Given the description of an element on the screen output the (x, y) to click on. 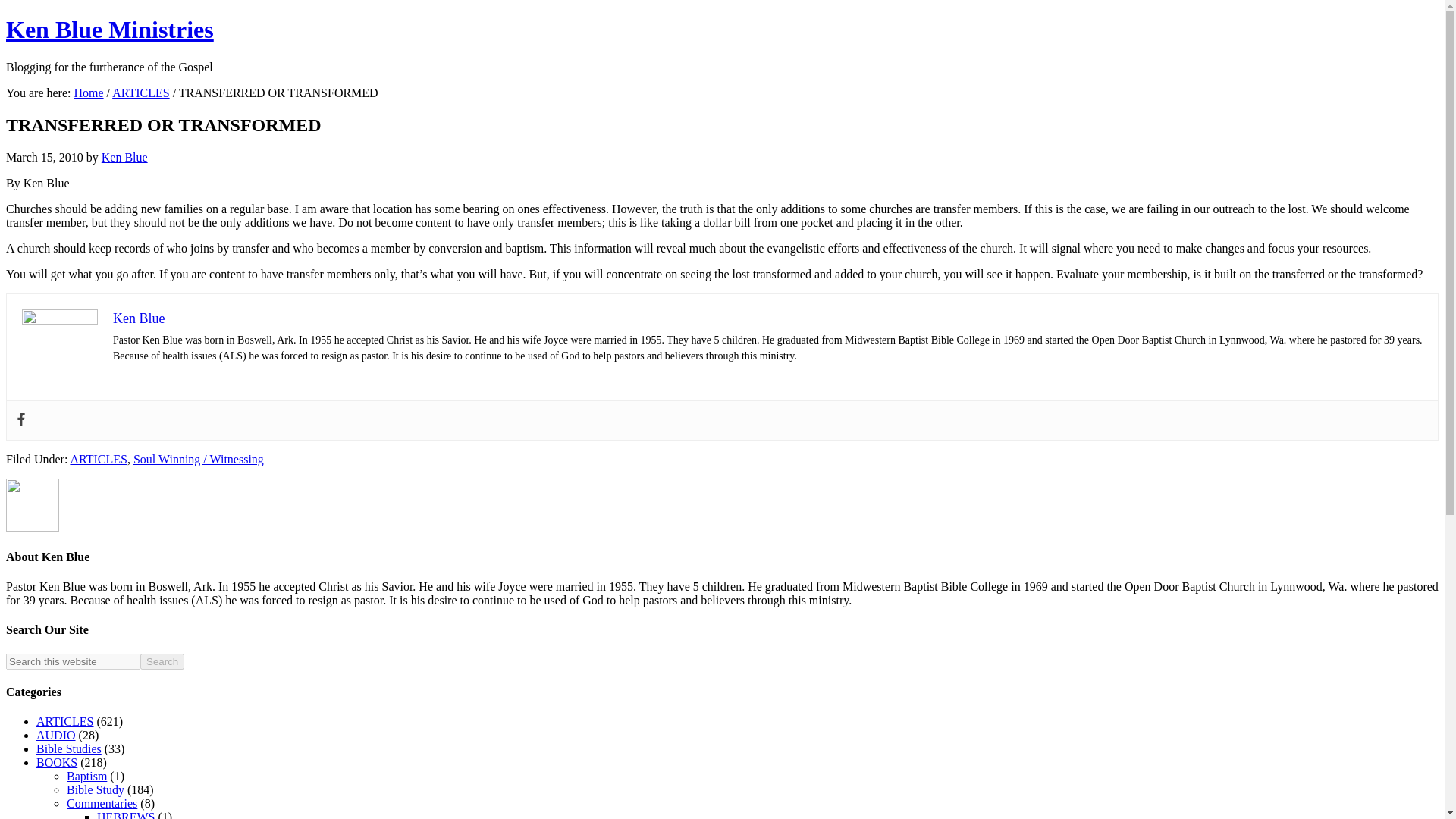
Bible Study (94, 789)
Ken Blue (138, 318)
Ken Blue (124, 156)
ARTICLES (140, 92)
Ken Blue Ministries (109, 29)
Home (88, 92)
ARTICLES (64, 721)
Search (161, 661)
Bible Studies (68, 748)
Baptism (86, 775)
